Given the description of an element on the screen output the (x, y) to click on. 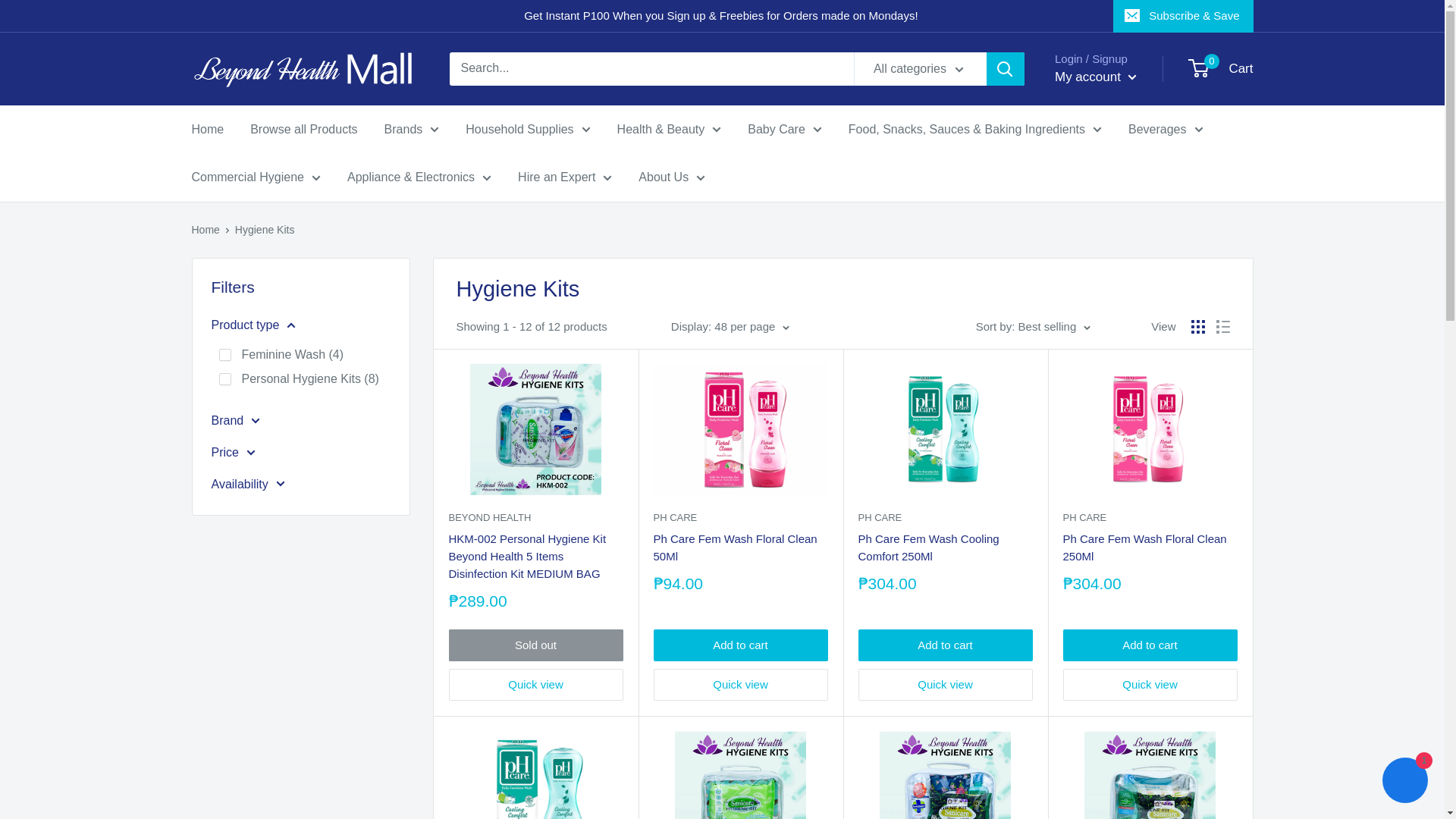
Personal Hygiene Kits (224, 378)
Feminine Wash (224, 354)
Shopify online store chat (1404, 781)
